Given the description of an element on the screen output the (x, y) to click on. 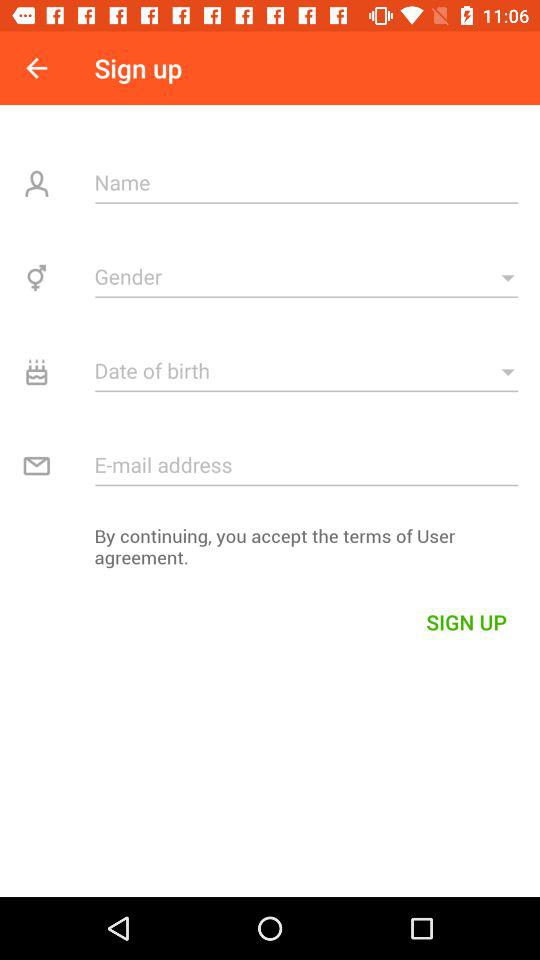
email address field (306, 464)
